Given the description of an element on the screen output the (x, y) to click on. 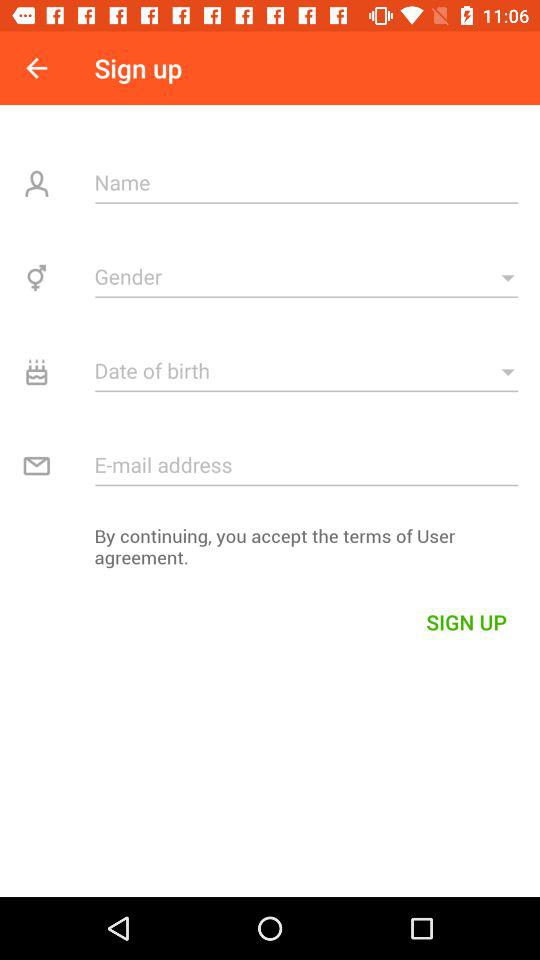
email address field (306, 464)
